Given the description of an element on the screen output the (x, y) to click on. 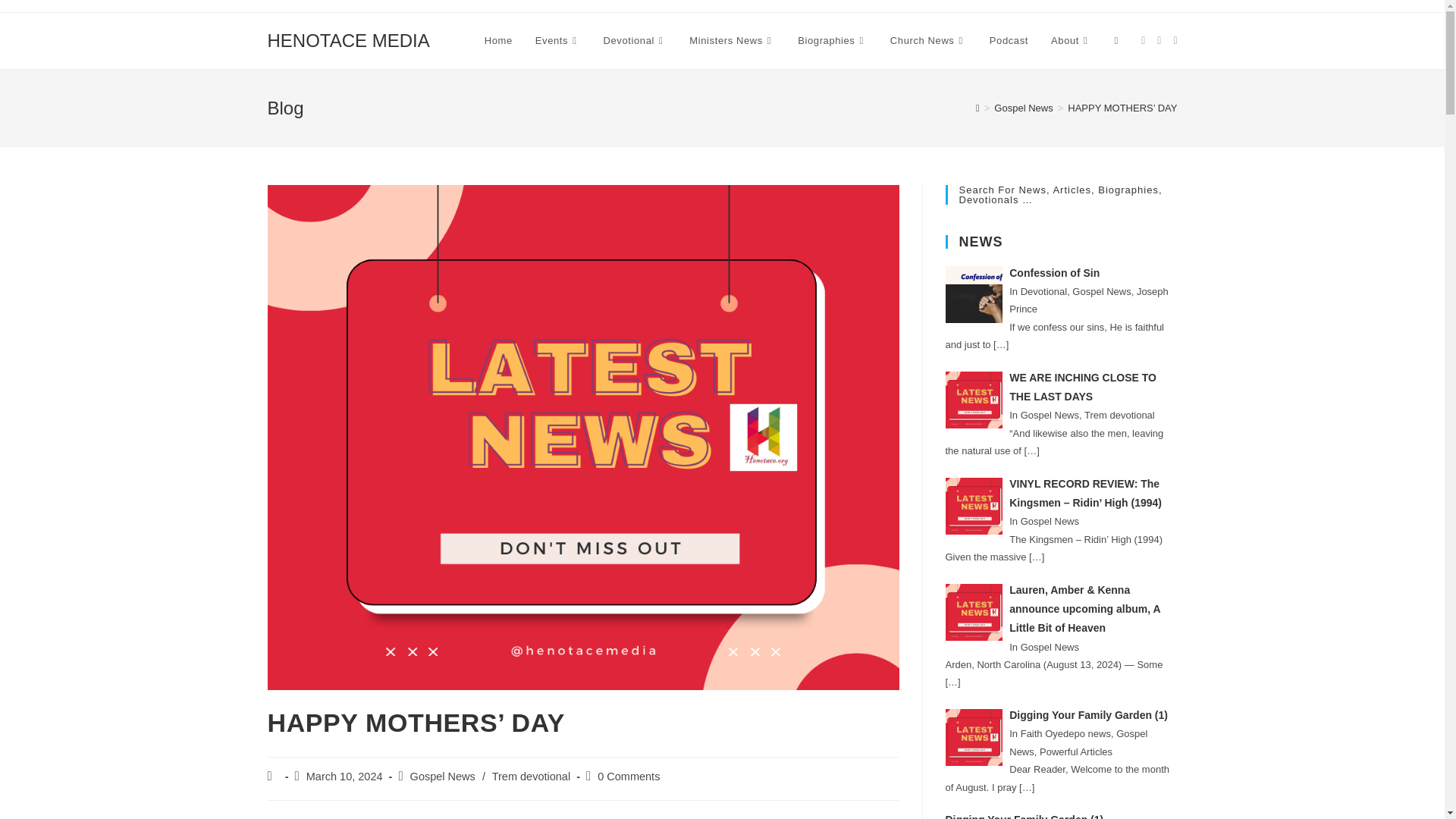
Events (558, 40)
Home (498, 40)
Ministers News (732, 40)
Biographies (832, 40)
HENOTACE MEDIA (347, 40)
Devotional (635, 40)
